Given the description of an element on the screen output the (x, y) to click on. 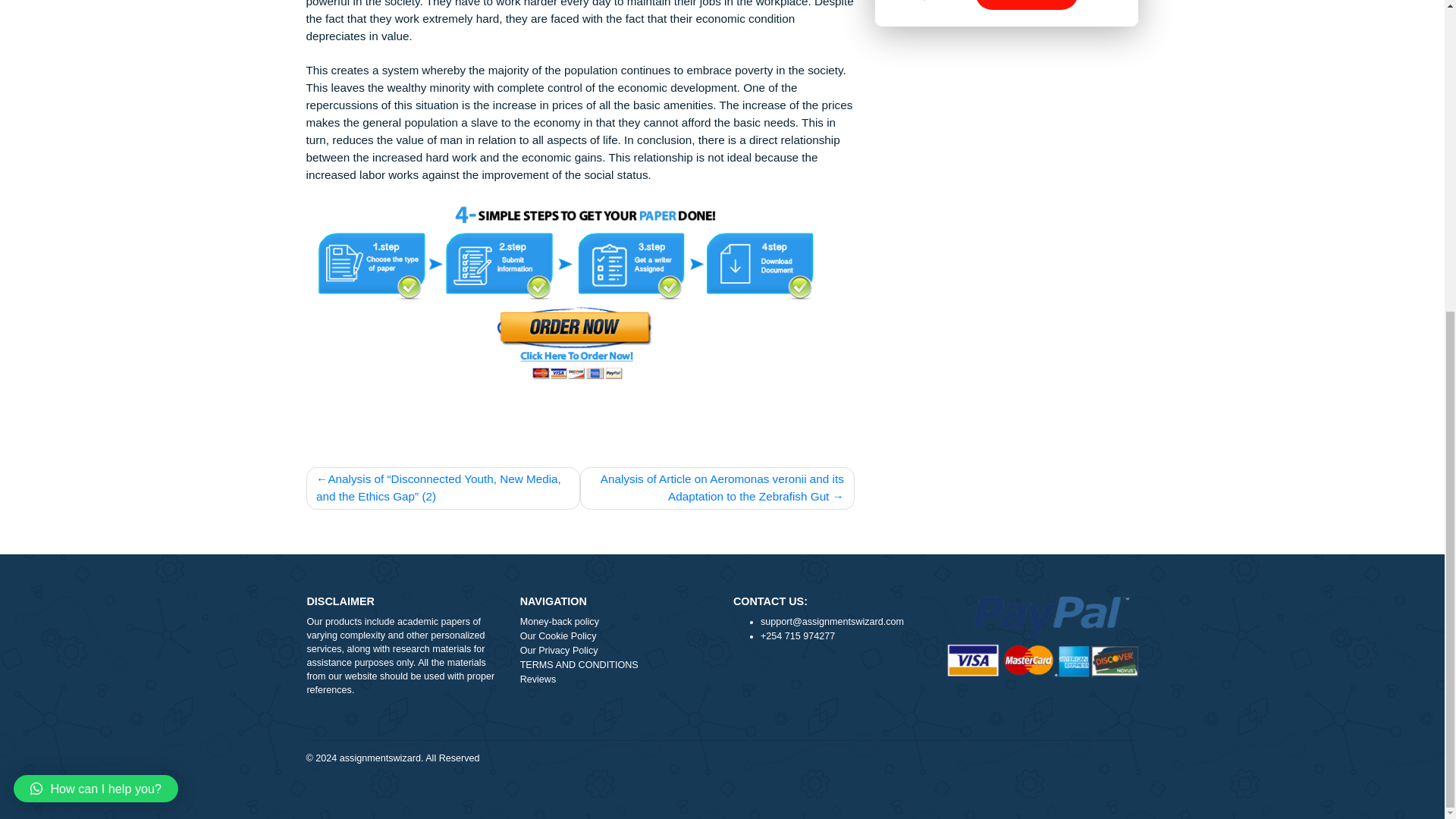
How can I help you? (106, 379)
Reviews (685, 810)
Our Cookie Policy (685, 762)
TERMS AND CONDITIONS (685, 794)
Our Privacy Policy (685, 778)
Money-back policy (685, 746)
ORDER NOW (1140, 46)
